Given the description of an element on the screen output the (x, y) to click on. 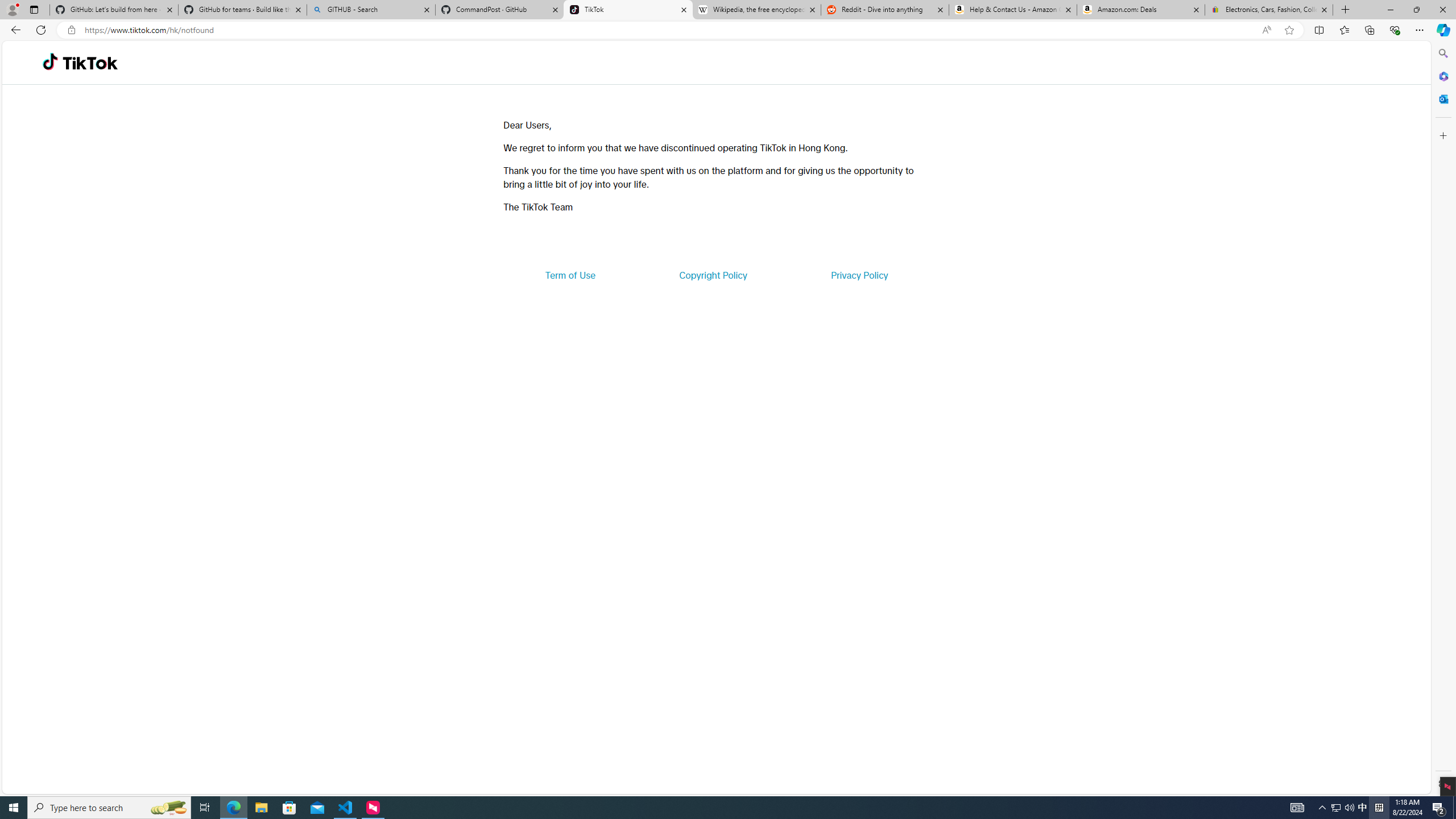
Amazon.com: Deals (1140, 9)
Reddit - Dive into anything (884, 9)
